Given the description of an element on the screen output the (x, y) to click on. 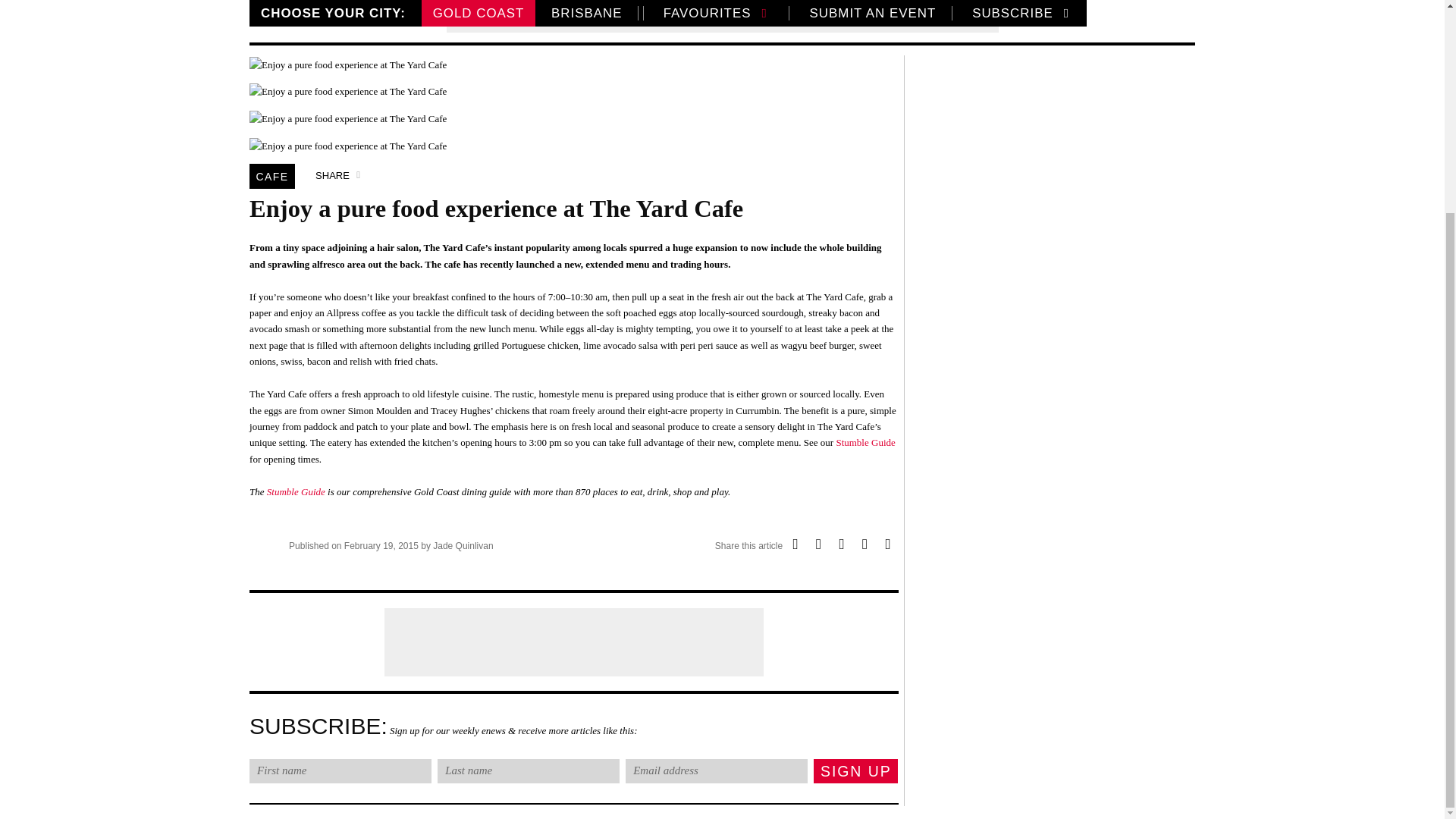
Sign up (855, 770)
CAFE (271, 175)
Sign up (855, 770)
Stumble Guide (295, 491)
Stumble Guide (865, 441)
SHARE (339, 175)
